Given the description of an element on the screen output the (x, y) to click on. 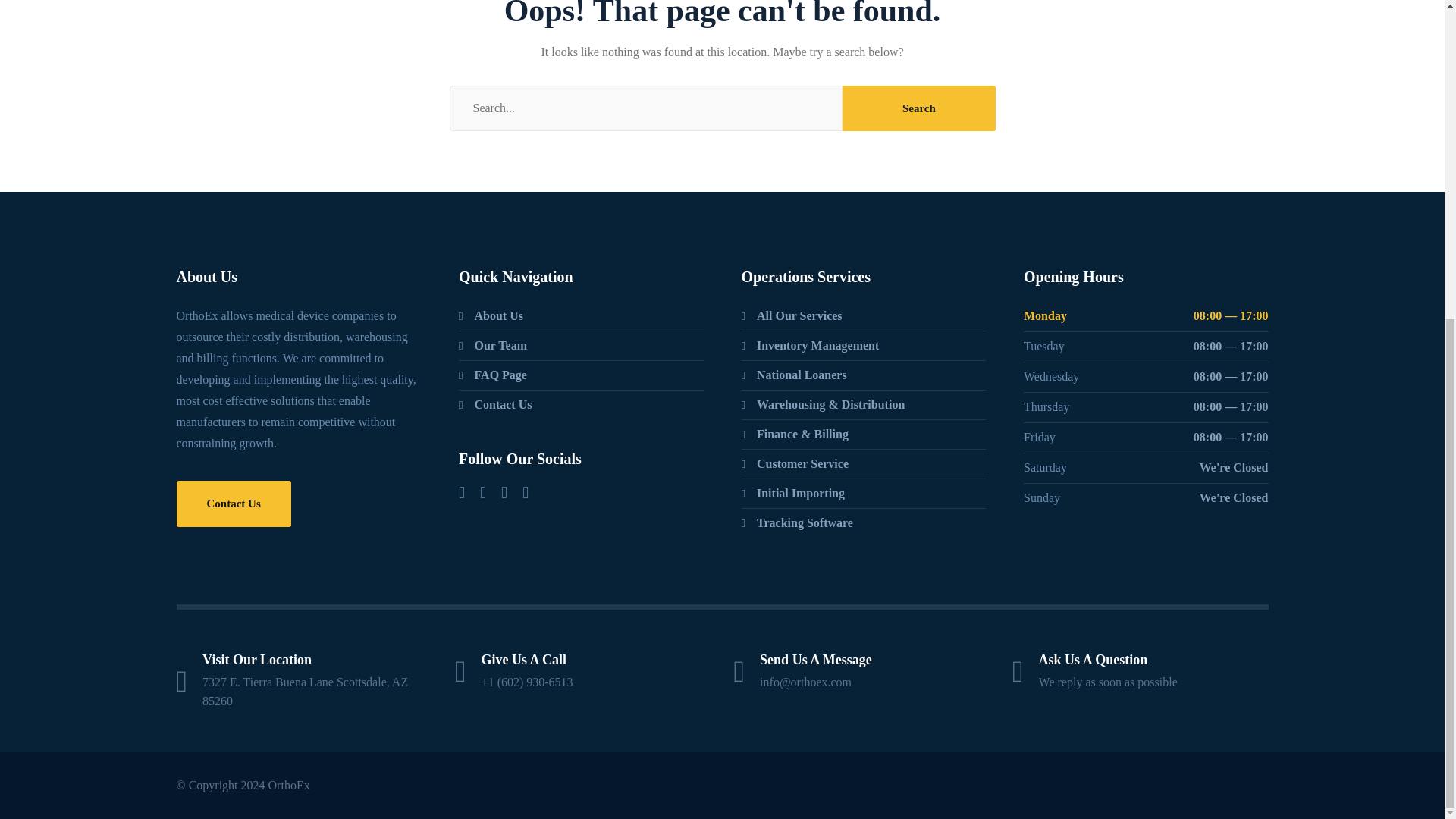
About Us (490, 315)
Contact Us (494, 404)
Contact Us (232, 503)
FAQ Page (492, 374)
Search (918, 108)
Initial Importing (793, 493)
Tracking Software (797, 522)
Search (918, 108)
National Loaners (794, 374)
Customer Service (794, 464)
